Given the description of an element on the screen output the (x, y) to click on. 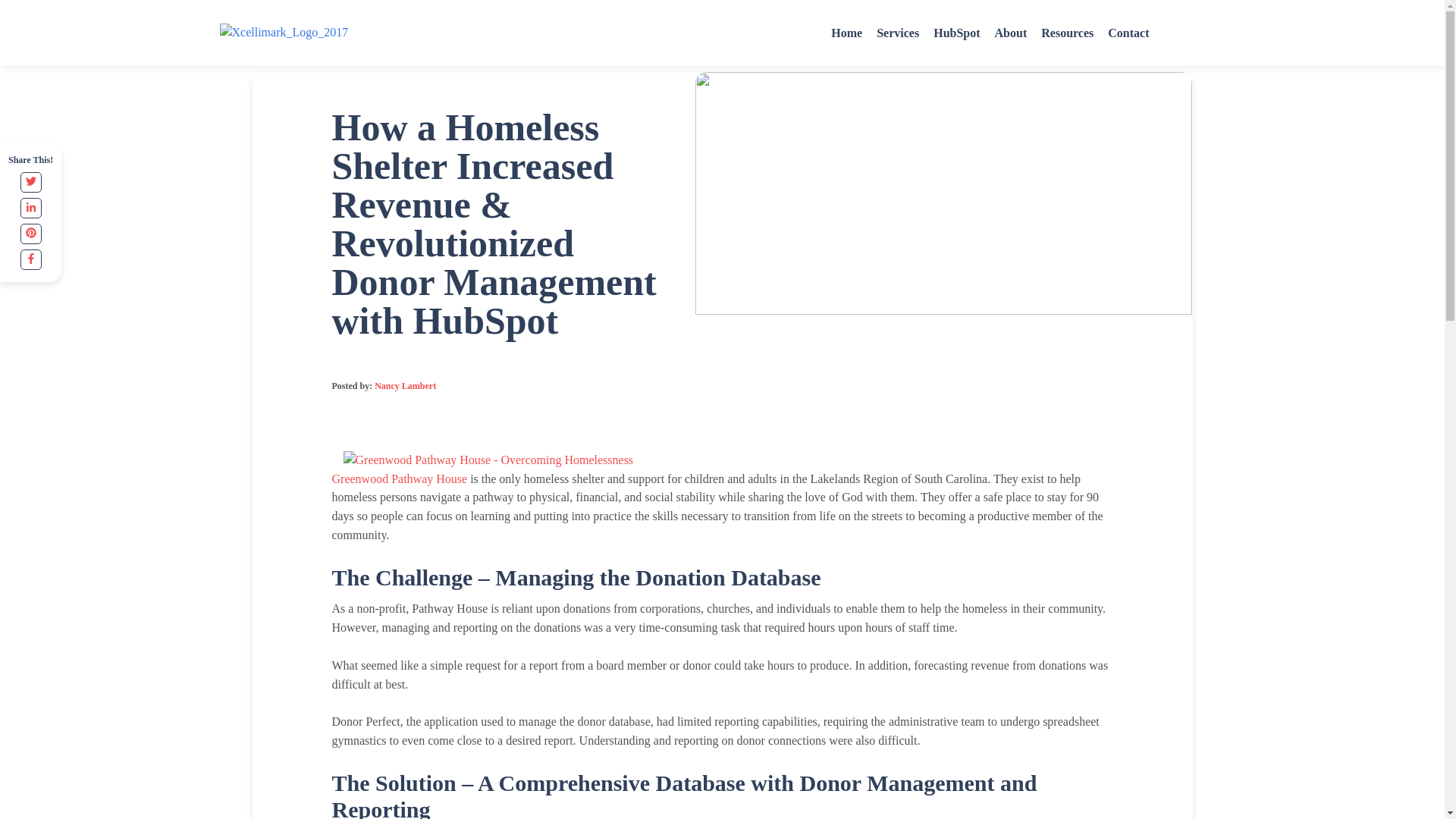
Nancy Lambert (404, 385)
Resources (379, 35)
Greenwood Pathway House (399, 478)
Home (342, 35)
